Given the description of an element on the screen output the (x, y) to click on. 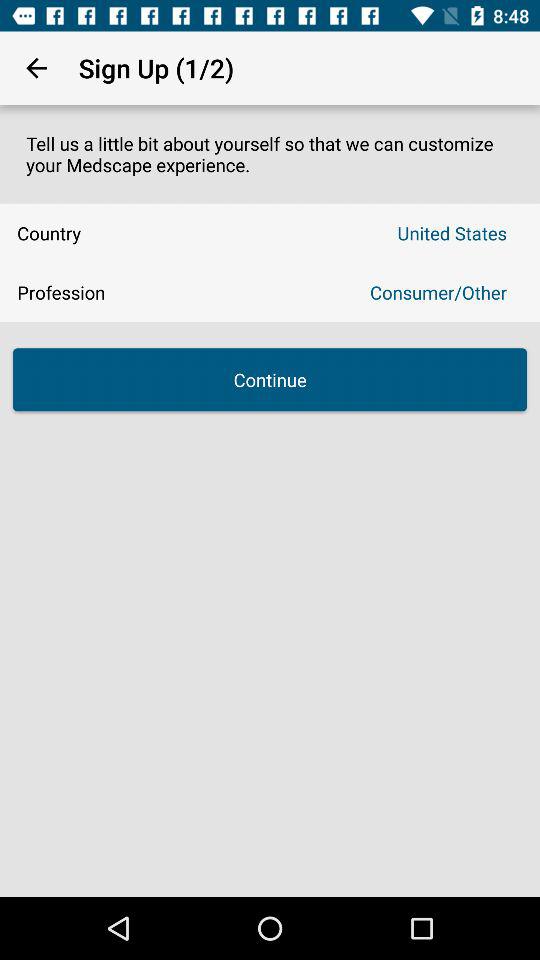
click item next to the sign up 1 app (36, 68)
